Given the description of an element on the screen output the (x, y) to click on. 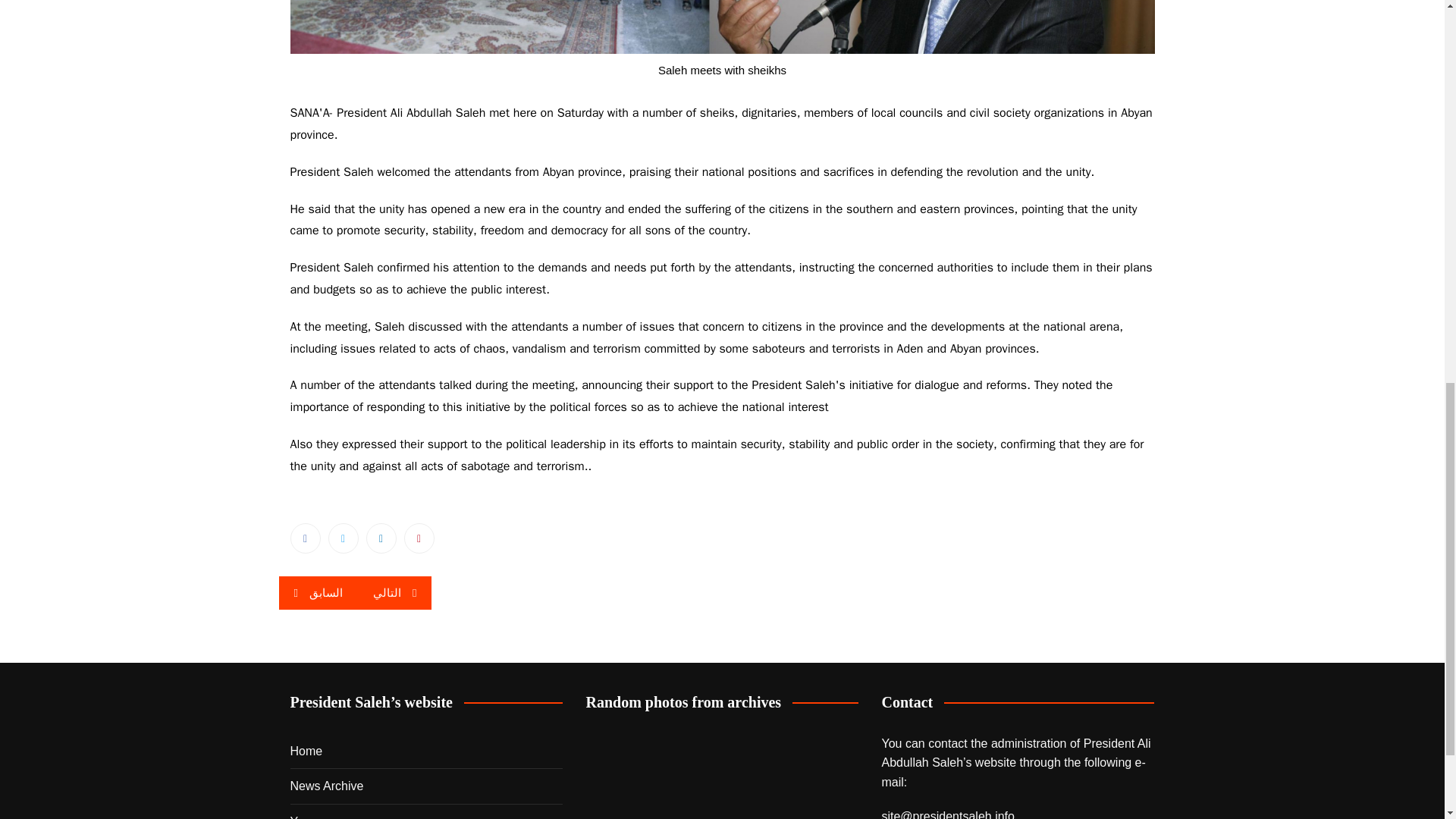
Facebook (304, 538)
Pinterest (418, 538)
Home (305, 751)
Linkedin (380, 538)
News Archive (325, 786)
Twitter (342, 538)
Yemen (307, 815)
